Given the description of an element on the screen output the (x, y) to click on. 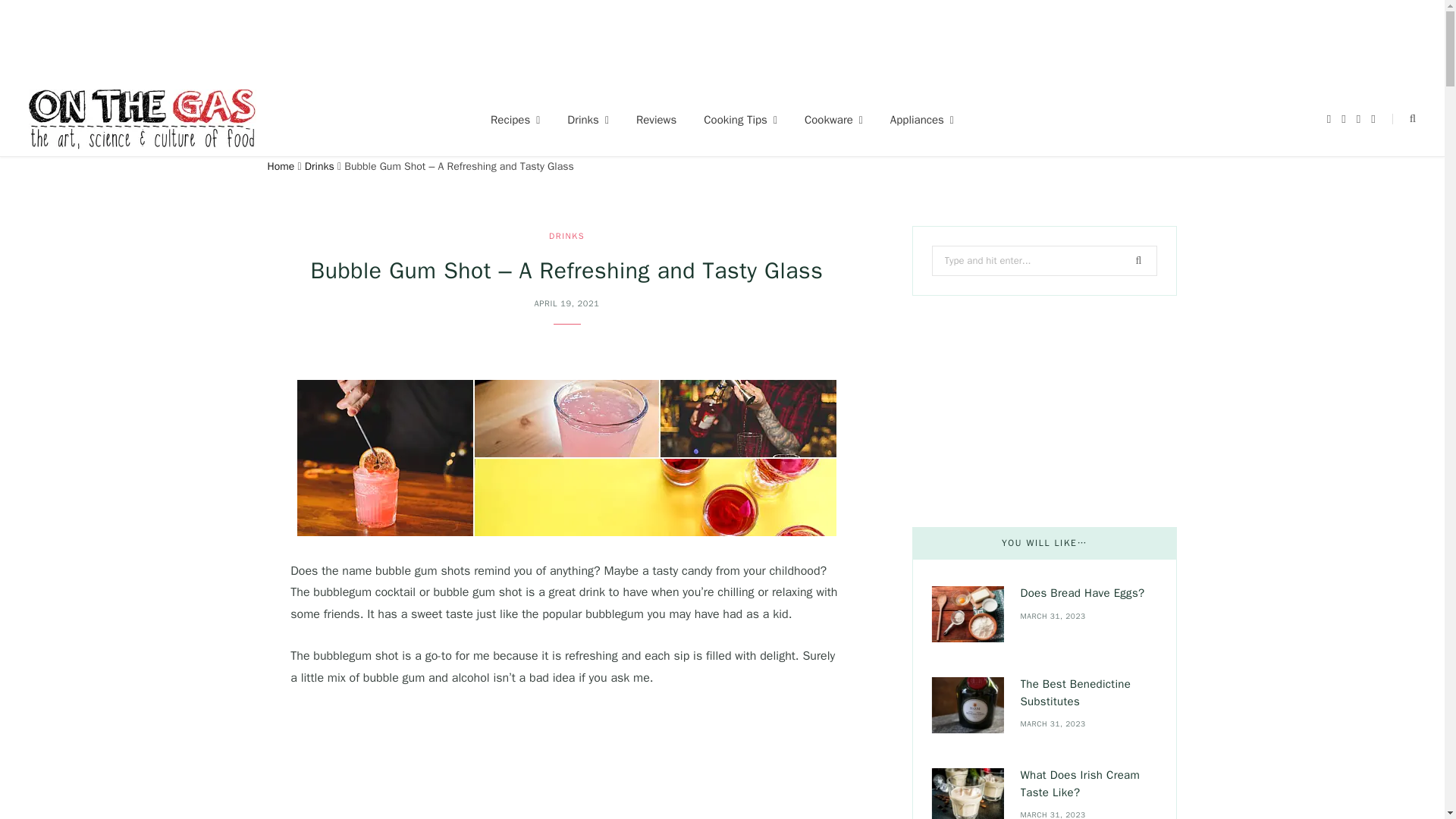
Home (280, 165)
Search for: (1044, 260)
The Best Benedictine Substitutes (967, 704)
Cooking Tips (740, 119)
Cookware (833, 119)
Reviews (656, 119)
Recipes (515, 119)
DRINKS (566, 235)
Drinks (319, 165)
APRIL 19, 2021 (566, 303)
